Given the description of an element on the screen output the (x, y) to click on. 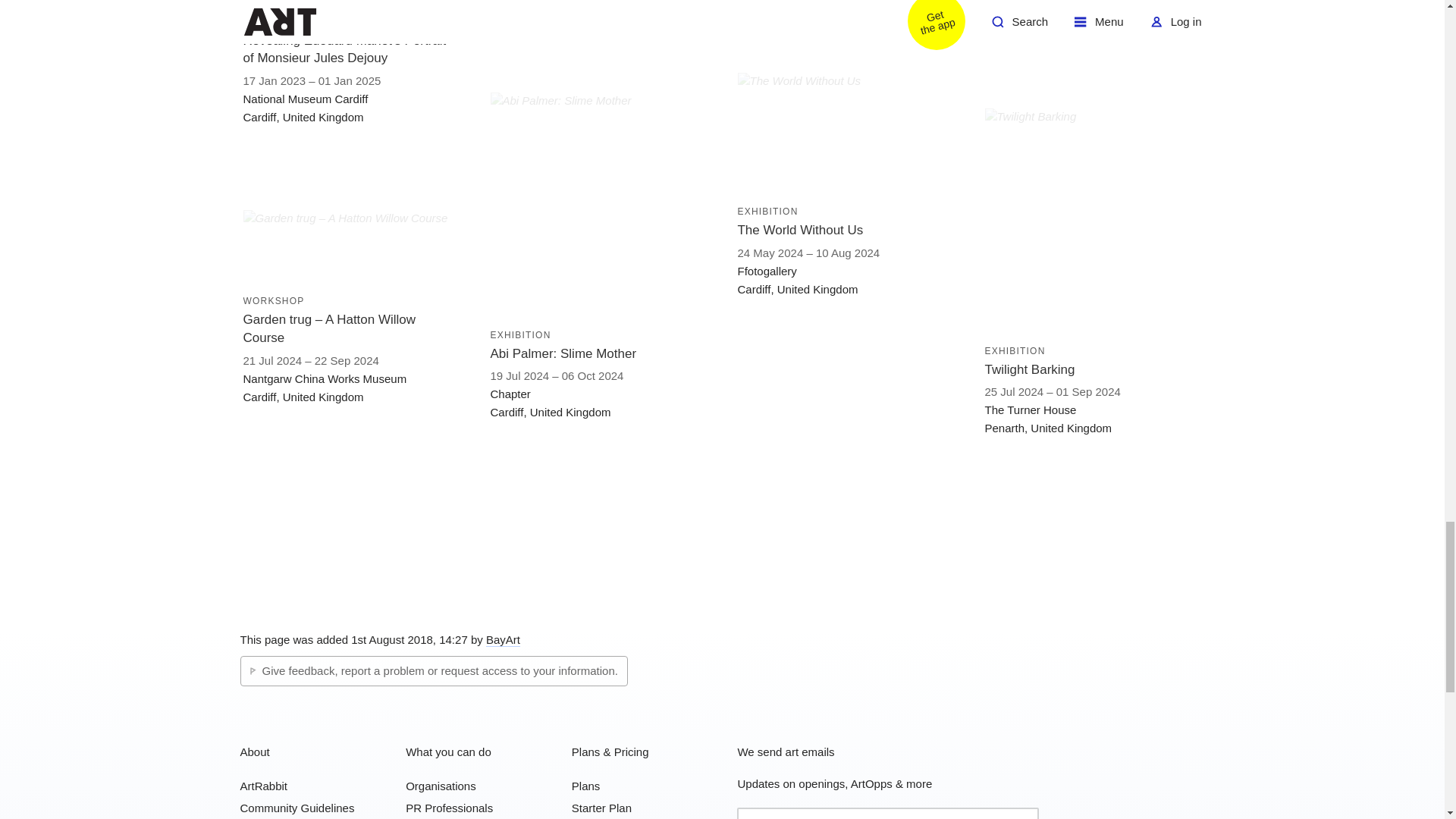
submit (1021, 814)
